Given the description of an element on the screen output the (x, y) to click on. 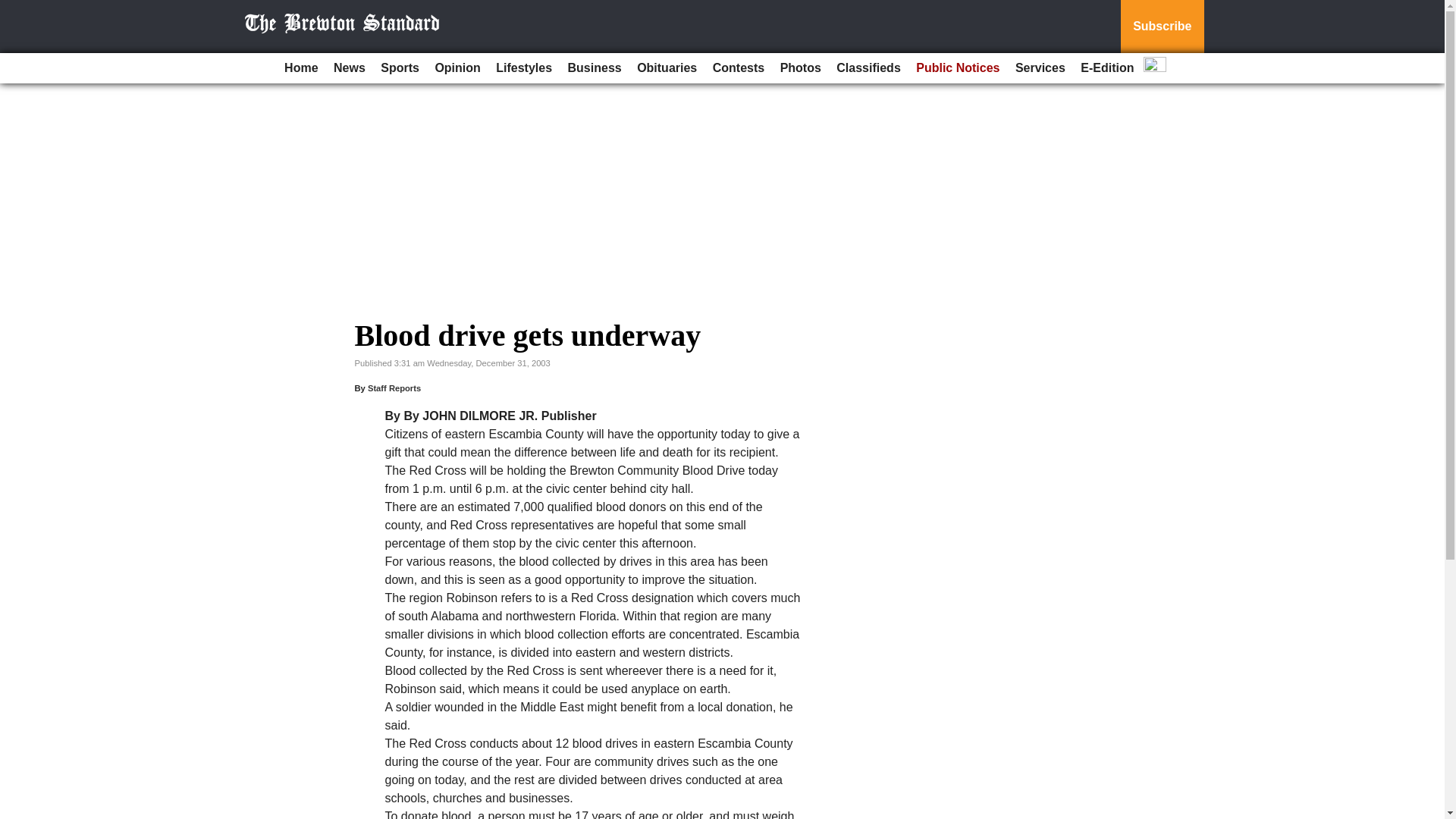
Services (1040, 68)
Opinion (457, 68)
E-Edition (1107, 68)
Lifestyles (523, 68)
Go (13, 9)
News (349, 68)
Public Notices (958, 68)
Business (594, 68)
Contests (738, 68)
Photos (800, 68)
